Given the description of an element on the screen output the (x, y) to click on. 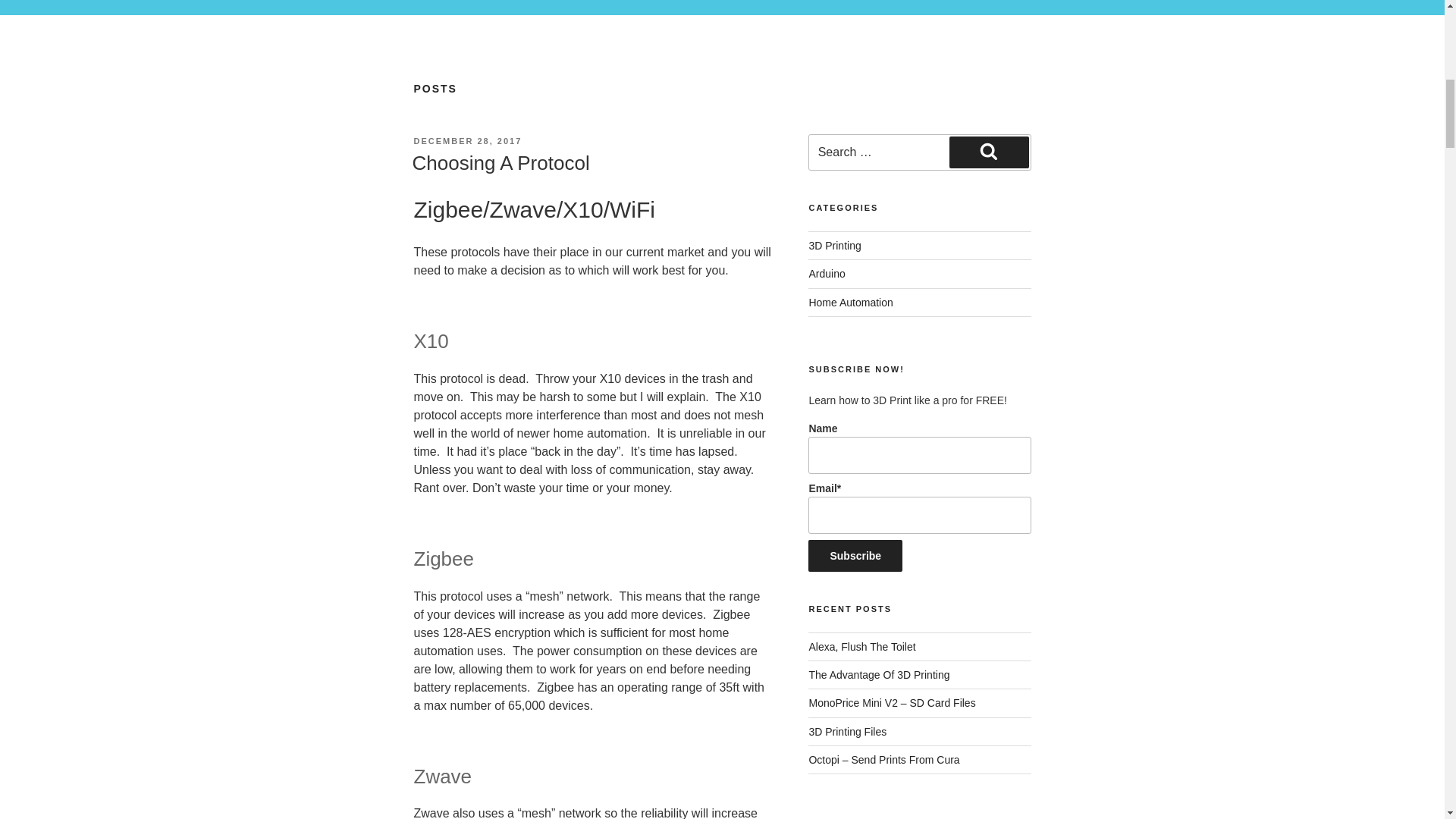
Choosing A Protocol (500, 162)
Subscribe (855, 555)
DECEMBER 28, 2017 (467, 140)
